Given the description of an element on the screen output the (x, y) to click on. 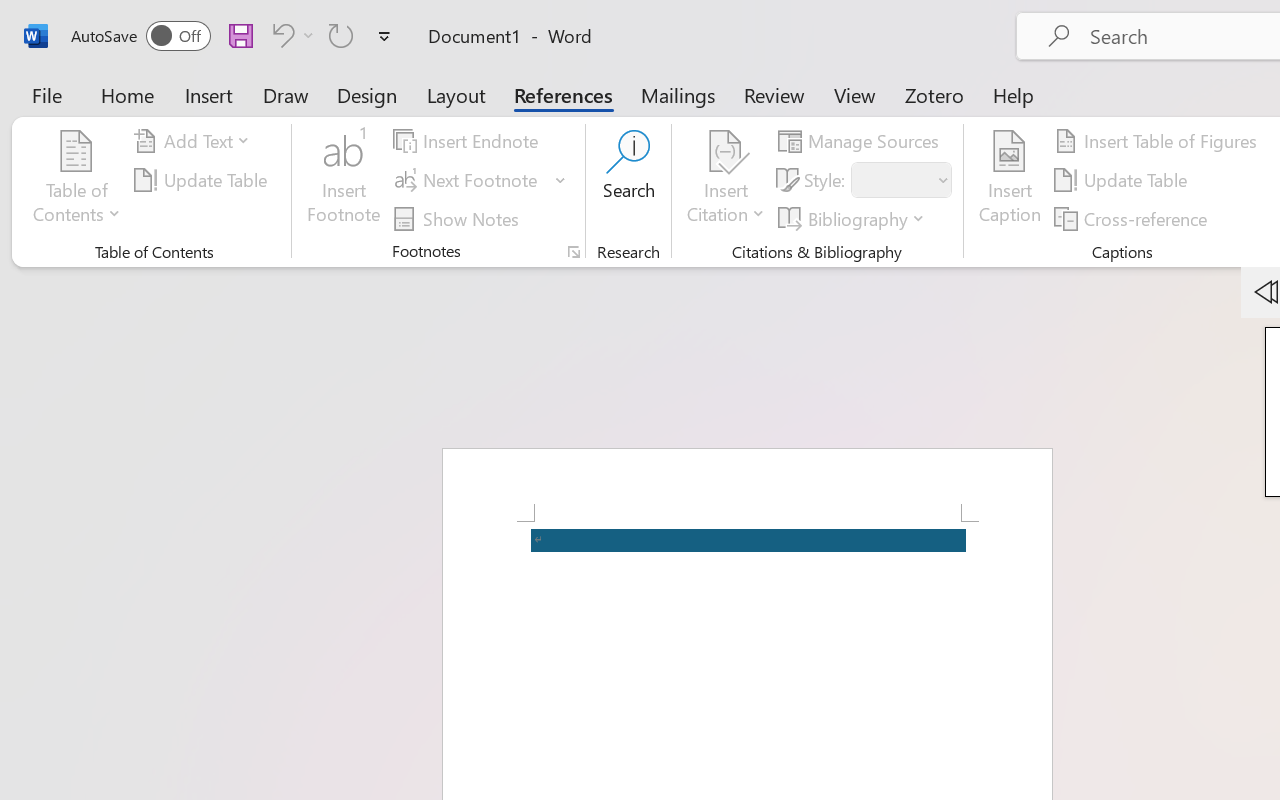
Cross-reference... (1133, 218)
Update Table... (204, 179)
Insert Footnote (344, 179)
Style (901, 179)
Add Text (195, 141)
Undo Apply Quick Style Set (280, 35)
Insert Citation (726, 179)
Insert Caption... (1009, 180)
Undo Apply Quick Style Set (290, 35)
